Given the description of an element on the screen output the (x, y) to click on. 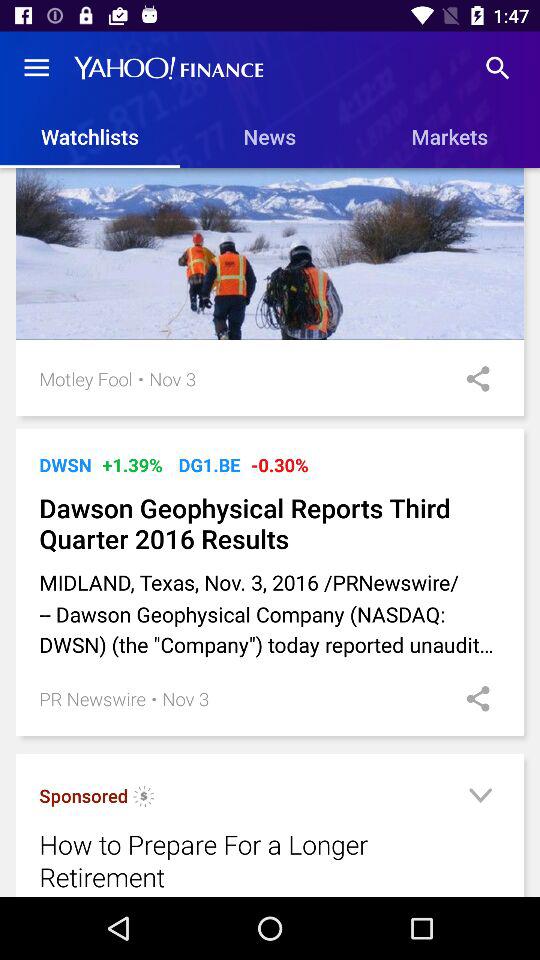
press the icon above the how to prepare icon (143, 798)
